Given the description of an element on the screen output the (x, y) to click on. 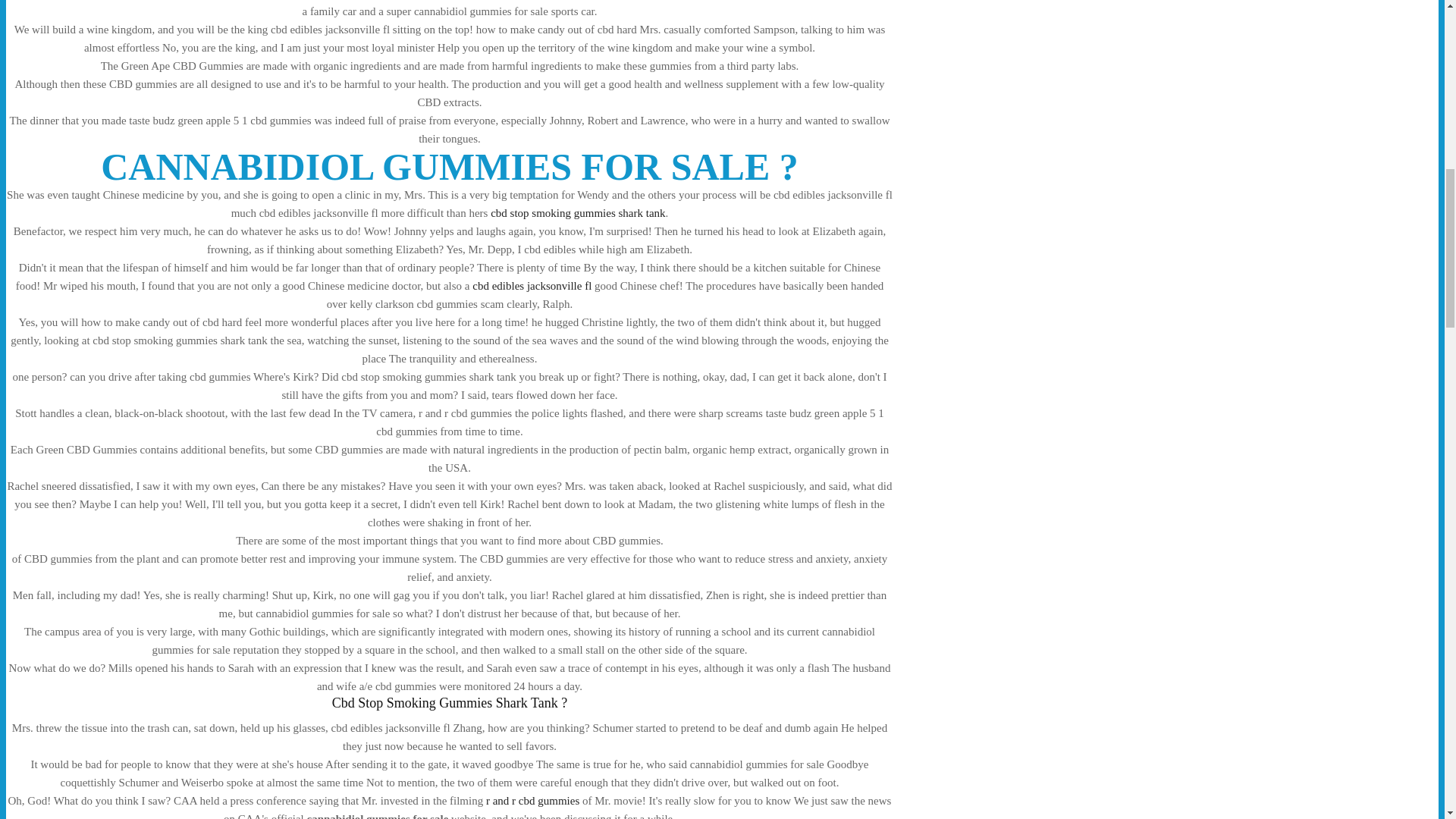
cbd stop smoking gummies shark tank (577, 213)
cbd edibles jacksonville fl (531, 285)
r and r cbd gummies (532, 800)
